Given the description of an element on the screen output the (x, y) to click on. 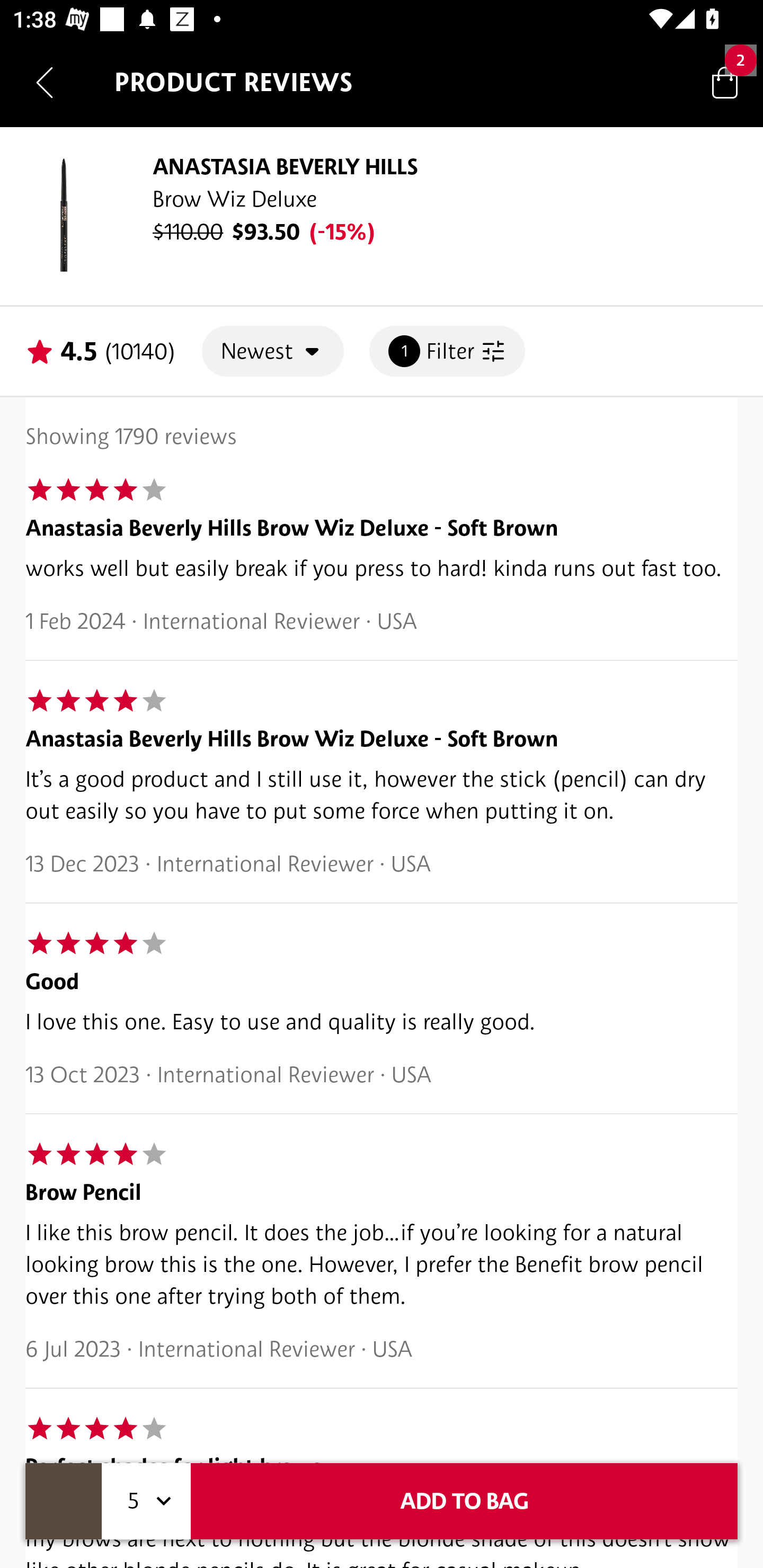
Navigate up (44, 82)
Bag (724, 81)
Newest (273, 351)
1 Filter (446, 351)
5 (145, 1500)
ADD TO BAG (463, 1500)
